Given the description of an element on the screen output the (x, y) to click on. 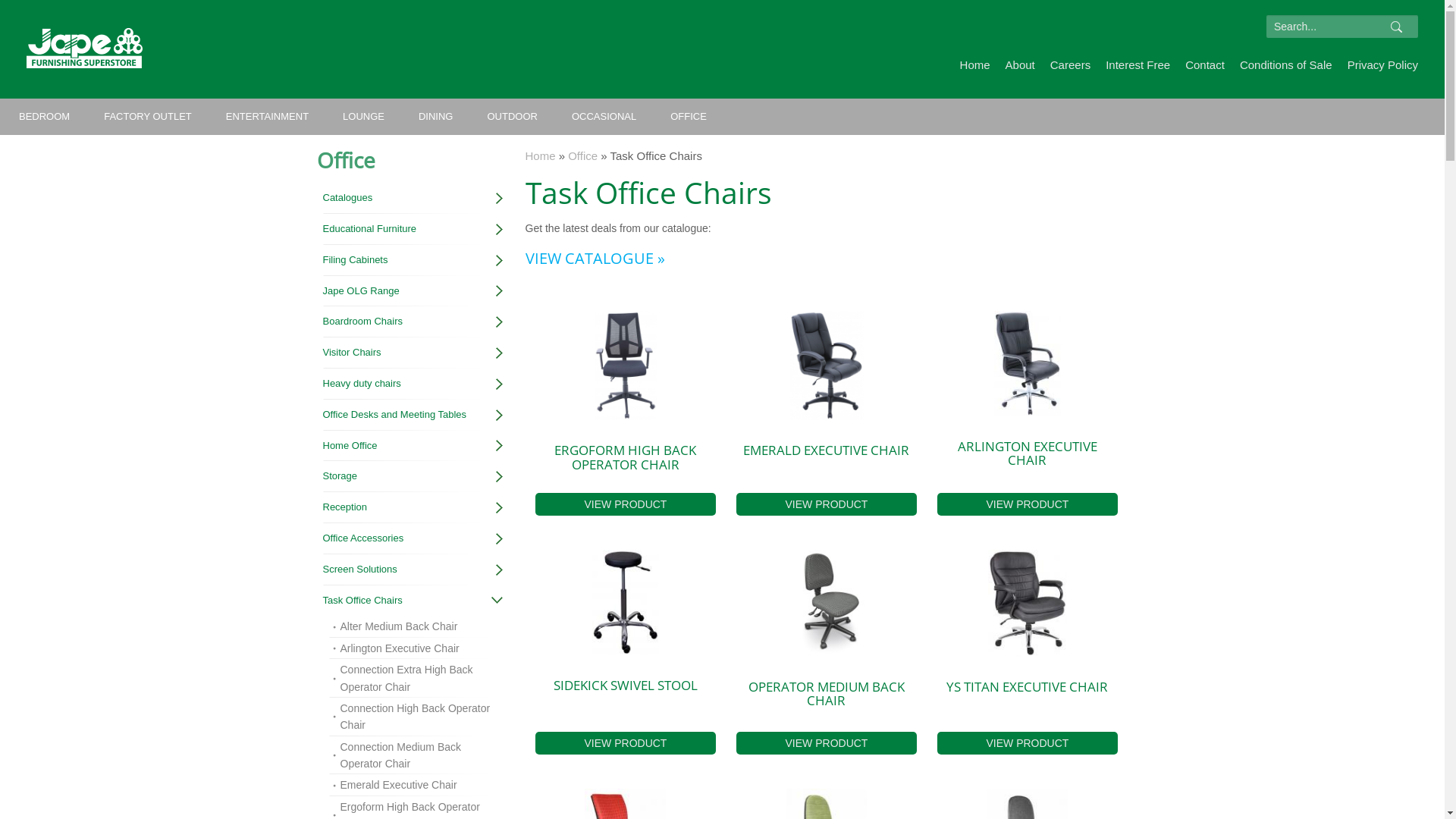
Educational Furniture Element type: text (412, 228)
VIEW PRODUCT Element type: text (826, 742)
BEDROOM Element type: text (44, 116)
Emerald Executive Chair Element type: text (417, 784)
VIEW PRODUCT Element type: text (625, 742)
OPERATOR MEDIUM BACK CHAIR Element type: text (826, 693)
Home Element type: text (539, 155)
Office Accessories Element type: text (412, 538)
VIEW PRODUCT Element type: text (826, 503)
Reception Element type: text (412, 507)
Arlington Executive Chair Element type: hover (1027, 363)
VIEW PRODUCT Element type: text (1027, 503)
Interest Free Element type: text (1137, 64)
Privacy Policy Element type: text (1382, 64)
Alter Medium Back Chair Element type: text (417, 626)
Operator Medium Back Chair Element type: hover (826, 603)
ENTERTAINMENT Element type: text (267, 116)
Sidekick Swivel Stool Element type: hover (625, 602)
Jape OLG Range Element type: text (412, 291)
OUTDOOR Element type: text (511, 116)
Search Element type: text (1395, 32)
DINING Element type: text (436, 116)
Skip to main content Element type: text (48, 0)
Conditions of Sale Element type: text (1285, 64)
Task Office Chairs Element type: text (412, 600)
Connection Medium Back Operator Chair Element type: text (417, 755)
ARLINGTON EXECUTIVE CHAIR Element type: text (1027, 451)
Screen Solutions Element type: text (412, 569)
SIDEKICK SWIVEL STOOL Element type: text (625, 684)
EMERALD EXECUTIVE CHAIR Element type: text (826, 449)
Ergoform High Back Operator Chair Front Element type: hover (625, 365)
Catalogues Element type: text (412, 197)
Office Desks and Meeting Tables Element type: text (412, 414)
Office Element type: text (582, 155)
Home Office Element type: text (412, 445)
VIEW PRODUCT Element type: text (625, 503)
Connection High Back Operator Chair Element type: text (417, 716)
Jape Furnishing Super Store Element type: hover (84, 48)
Enter the terms you wish to search for. Element type: hover (1342, 26)
OFFICE Element type: text (688, 116)
Arlington Executive Chair Element type: text (417, 647)
Boardroom Chairs Element type: text (412, 321)
Home Element type: text (975, 64)
FACTORY OUTLET Element type: text (147, 116)
OCCASIONAL Element type: text (603, 116)
VIEW PRODUCT Element type: text (1027, 742)
Visitor Chairs Element type: text (412, 352)
Filing Cabinets Element type: text (412, 260)
Connection Extra High Back Operator Chair Element type: text (417, 677)
About Element type: text (1020, 64)
YS TITAN EXECUTIVE CHAIR Element type: text (1026, 686)
Storage Element type: text (412, 476)
Office Element type: text (345, 159)
ERGOFORM HIGH BACK OPERATOR CHAIR Element type: text (625, 456)
Contact Element type: text (1204, 64)
Emerald Executive Chair Element type: hover (826, 365)
Heavy duty chairs Element type: text (412, 383)
Careers Element type: text (1070, 64)
LOUNGE Element type: text (363, 116)
